Given the description of an element on the screen output the (x, y) to click on. 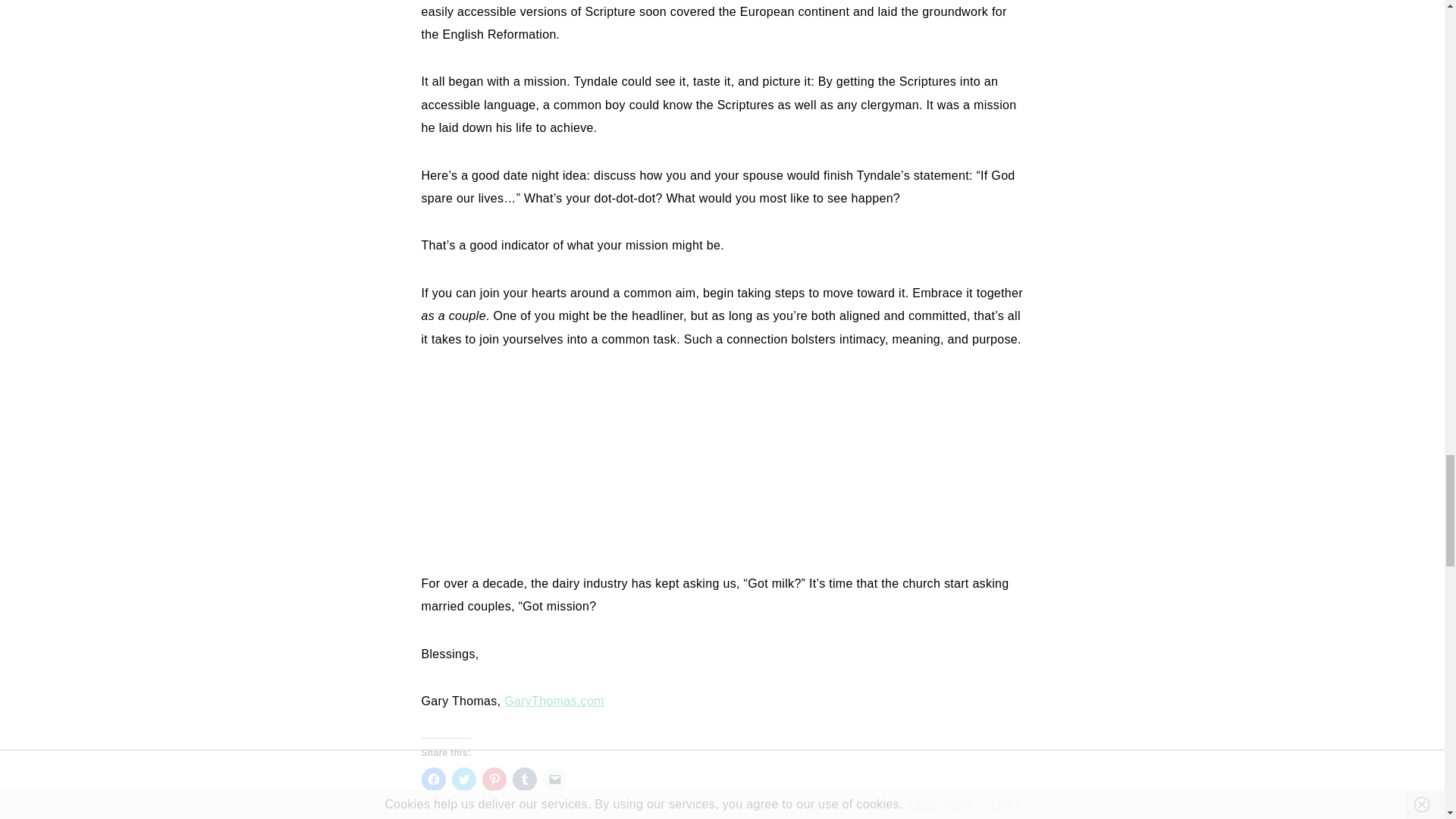
Click to share on Facebook (433, 779)
Click to share on Tumblr (524, 779)
Click to share on Twitter (463, 779)
Click to email a link to a friend (555, 779)
Click to share on Pinterest (493, 779)
